Given the description of an element on the screen output the (x, y) to click on. 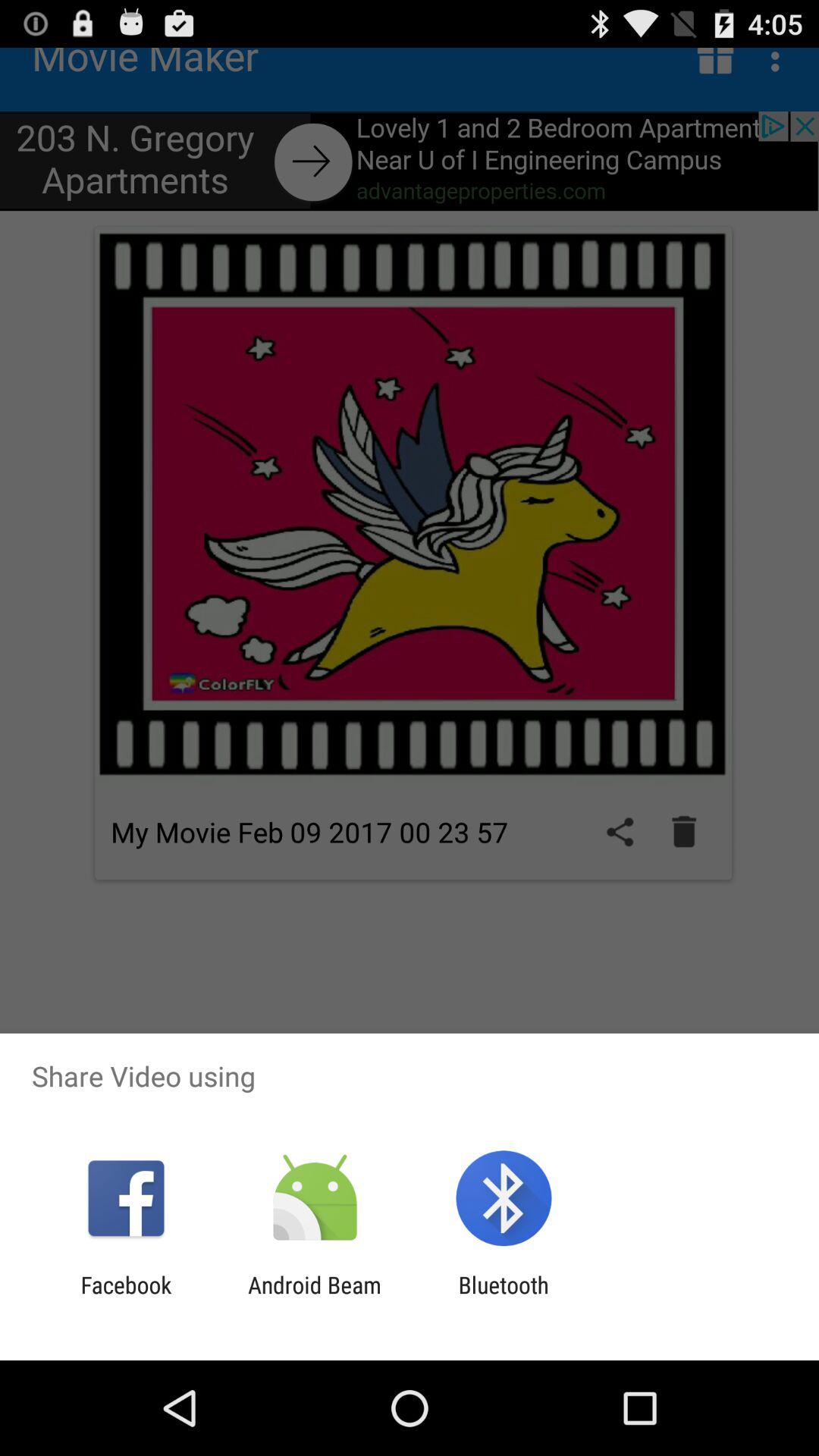
select app next to the android beam app (503, 1298)
